Given the description of an element on the screen output the (x, y) to click on. 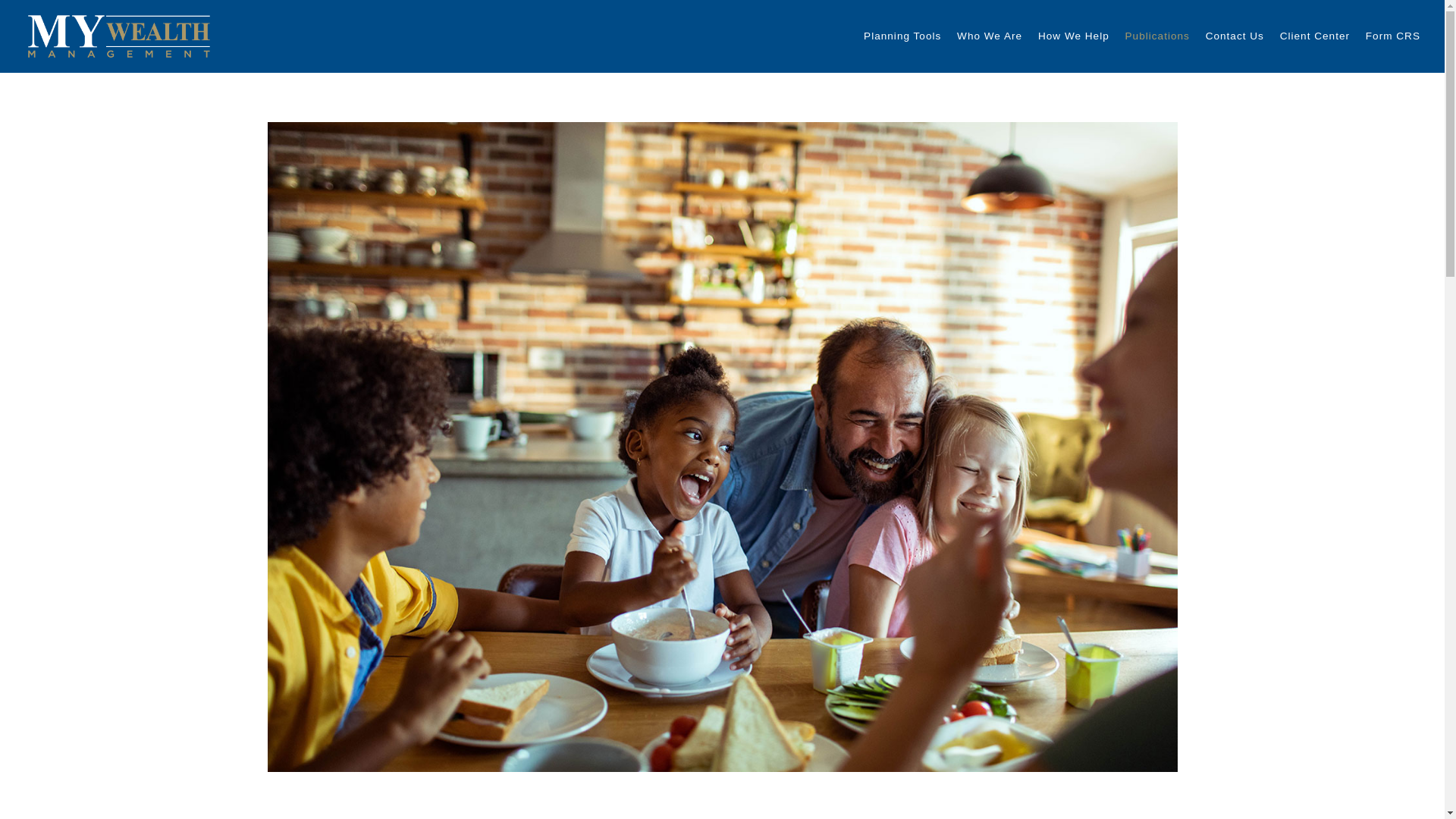
Client Center (1314, 36)
Form CRS (1393, 36)
Contact Us (1234, 36)
Who We Are (989, 36)
How We Help (1073, 36)
Publications (1157, 36)
